Given the description of an element on the screen output the (x, y) to click on. 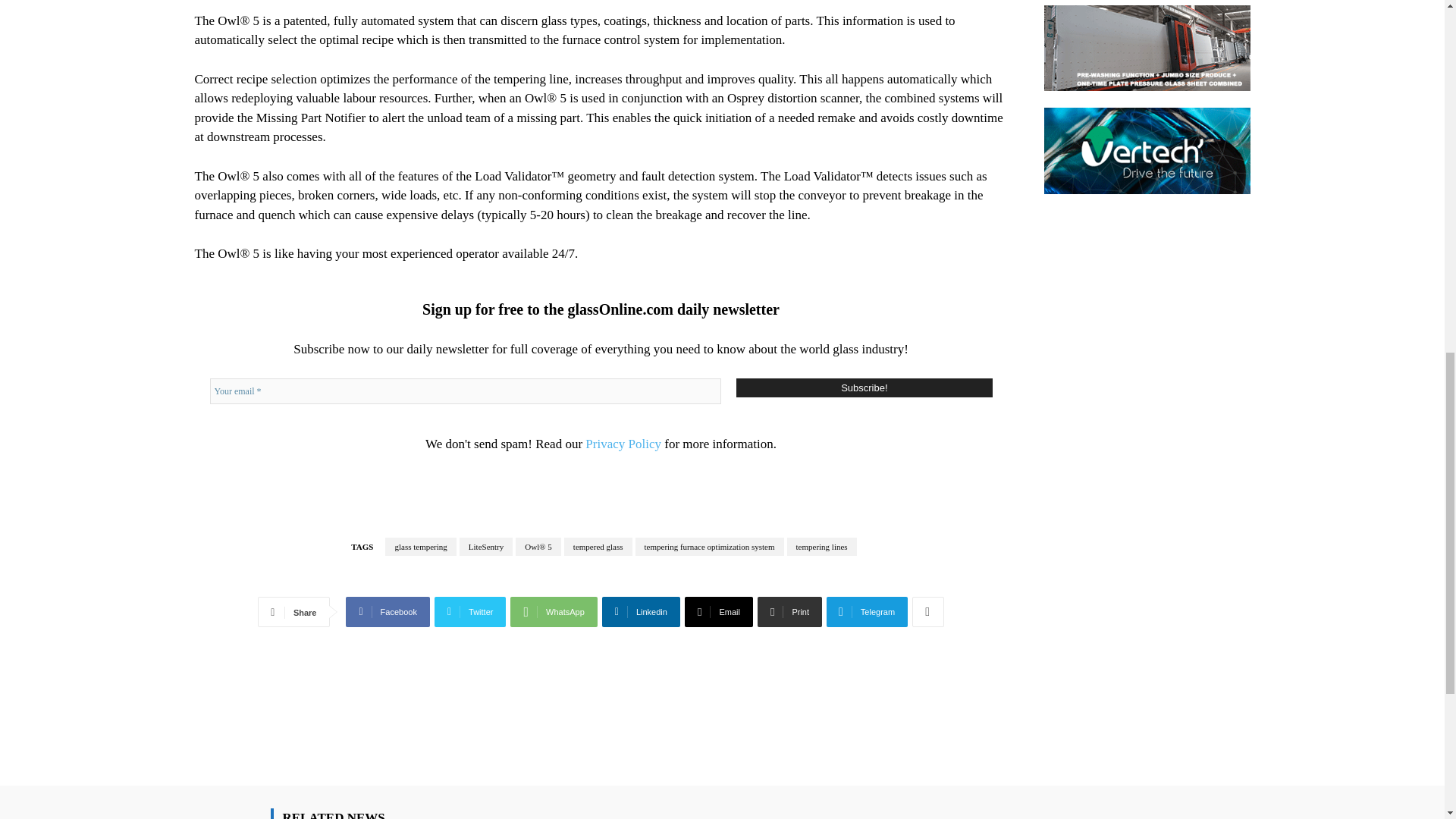
Subscribe! (863, 387)
WhatsApp (553, 612)
Email (718, 612)
Twitter (469, 612)
Linkedin (640, 612)
Print (789, 612)
Your email (464, 391)
Facebook (387, 612)
